Given the description of an element on the screen output the (x, y) to click on. 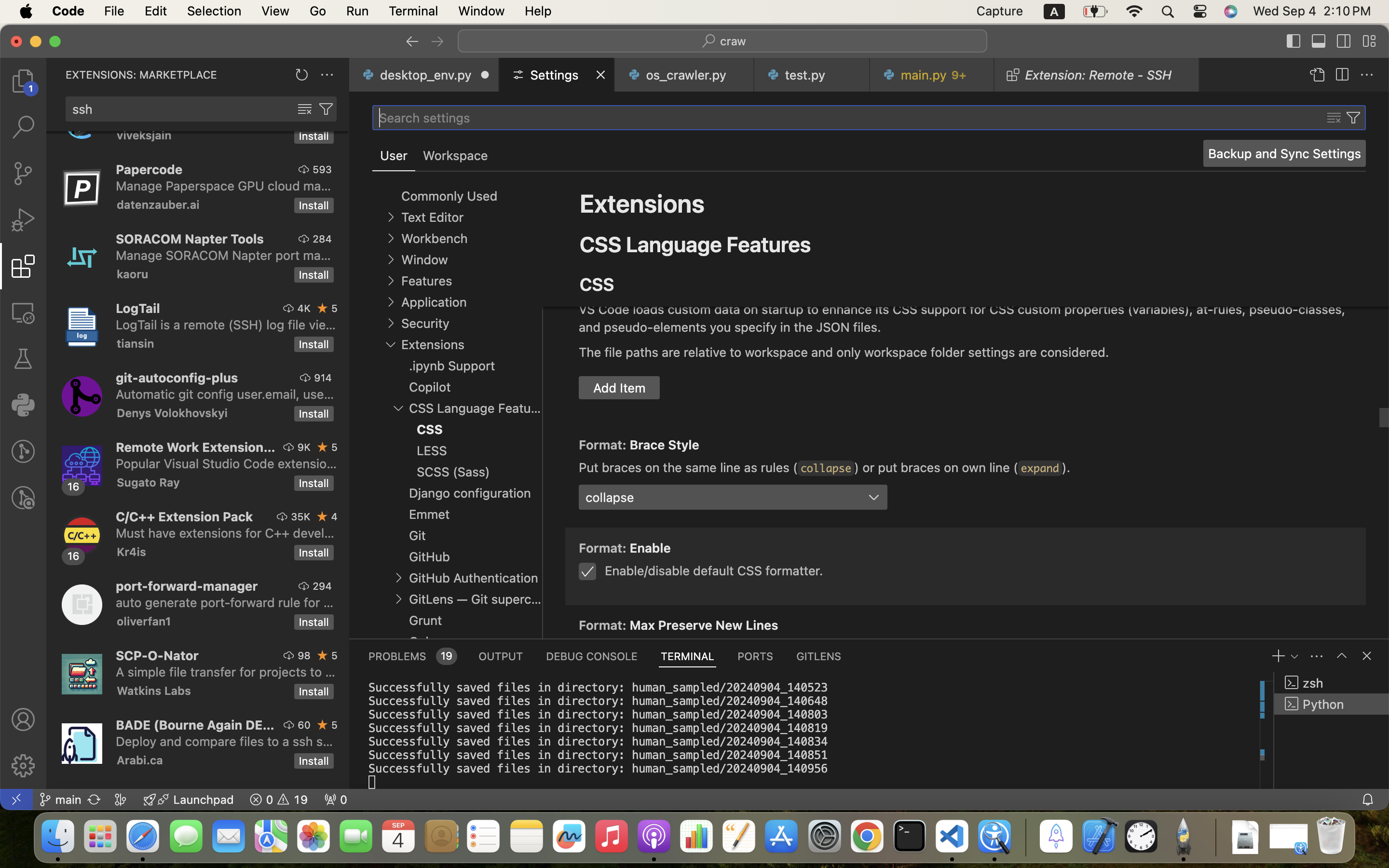
GitHub Element type: AXStaticText (429, 556)
0 Extension: Remote - SSH   Element type: AXRadioButton (1096, 74)
Security Element type: AXStaticText (425, 323)
Remote Work Extension Pack Element type: AXStaticText (195, 446)
0 os_crawler.py   Element type: AXRadioButton (684, 74)
